Given the description of an element on the screen output the (x, y) to click on. 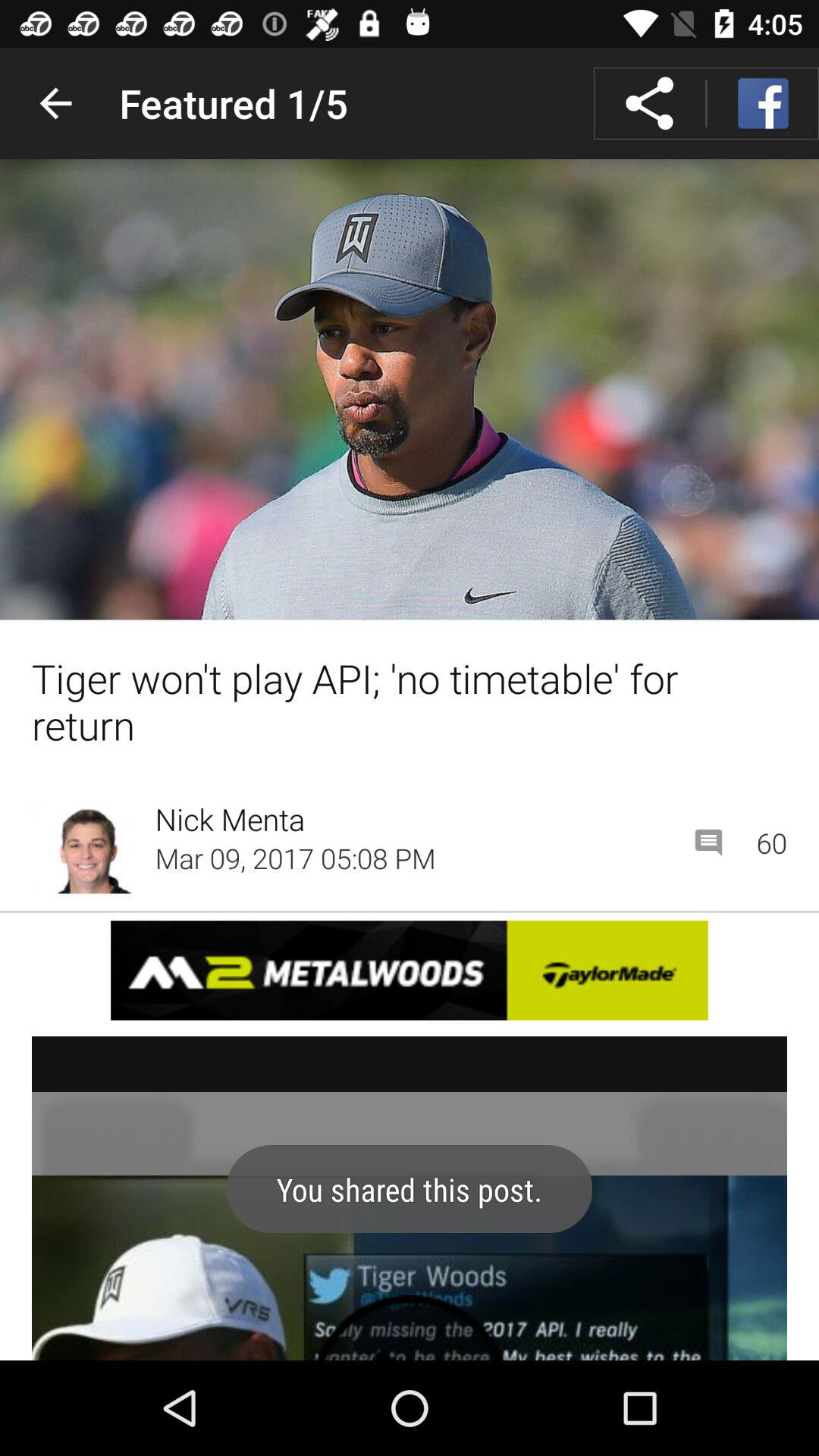
advertisement link (409, 970)
